Given the description of an element on the screen output the (x, y) to click on. 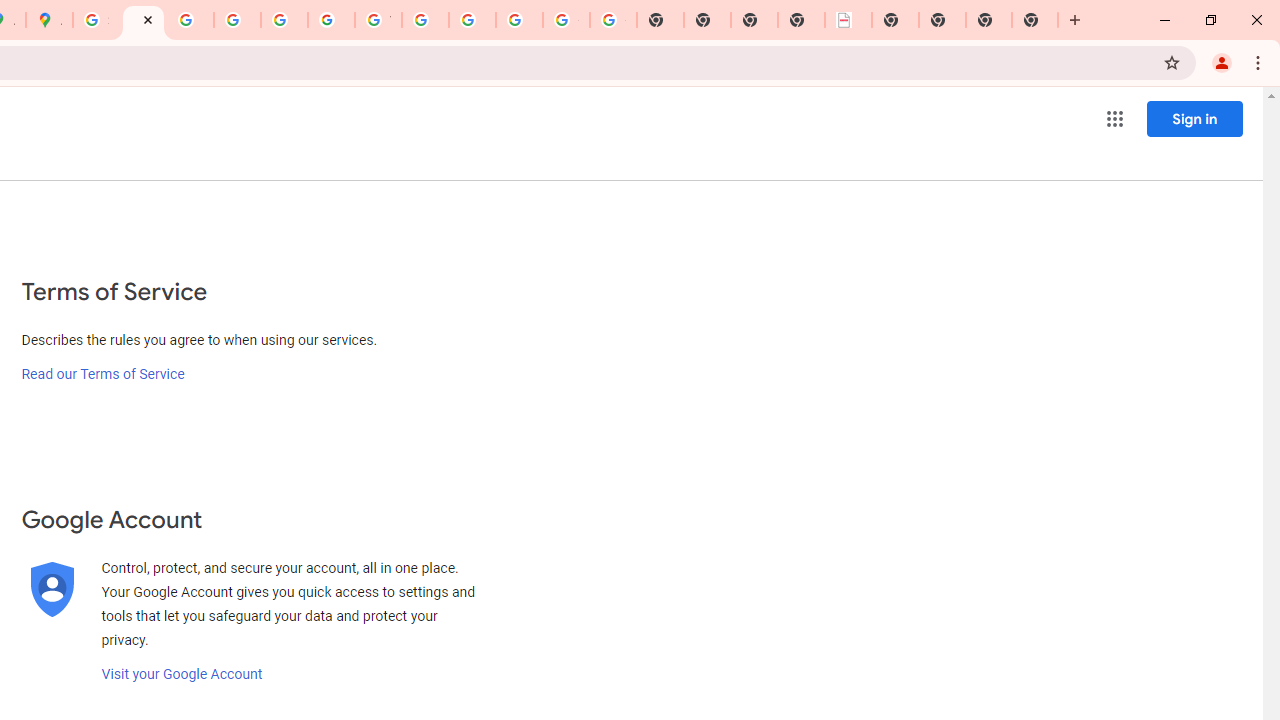
YouTube (377, 20)
Privacy Help Center - Policies Help (189, 20)
Visit your Google Account (181, 674)
Read our Terms of Service (102, 374)
Browse Chrome as a guest - Computer - Google Chrome Help (425, 20)
